Given the description of an element on the screen output the (x, y) to click on. 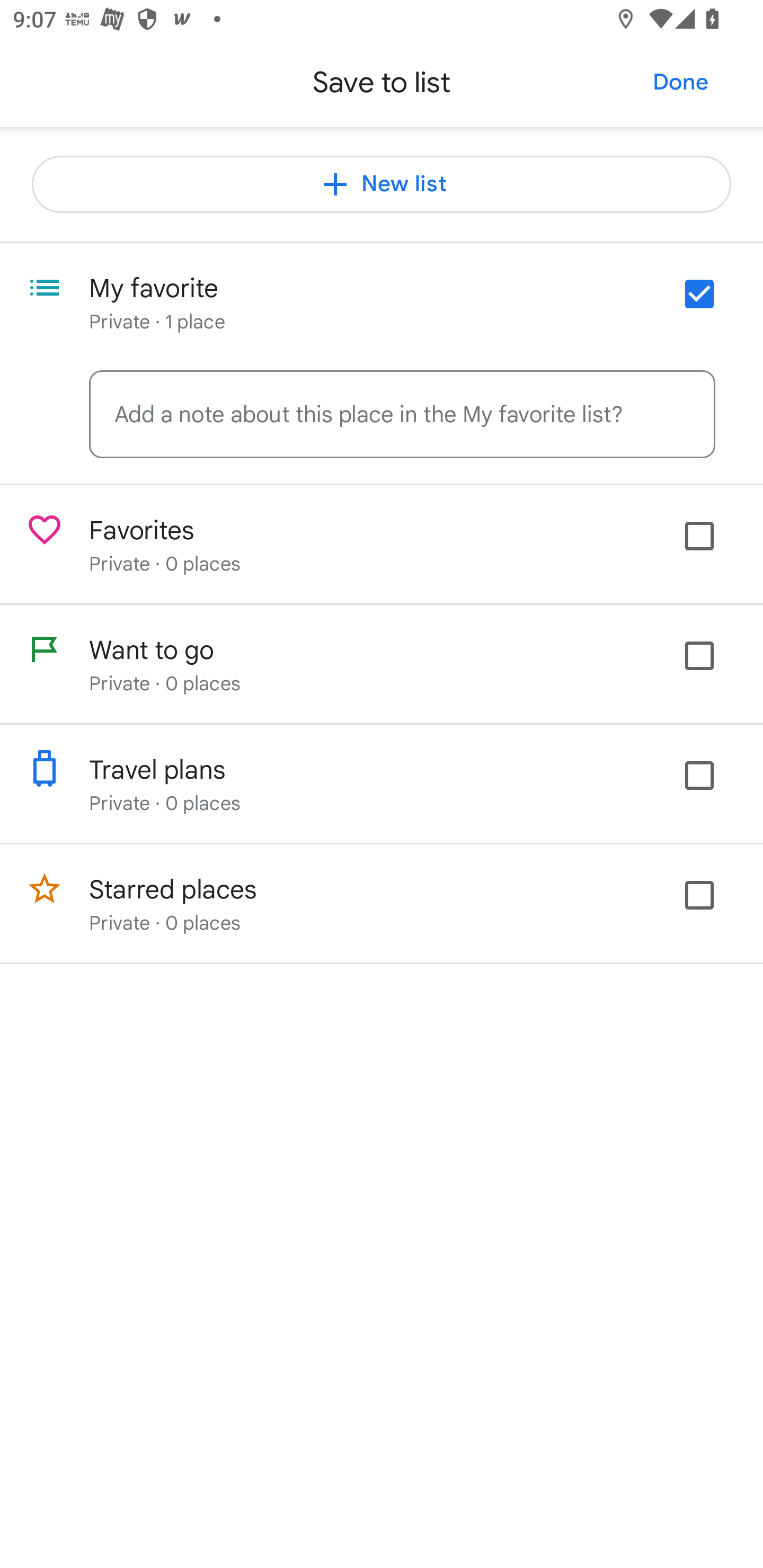
Done (680, 81)
New list (381, 183)
